Given the description of an element on the screen output the (x, y) to click on. 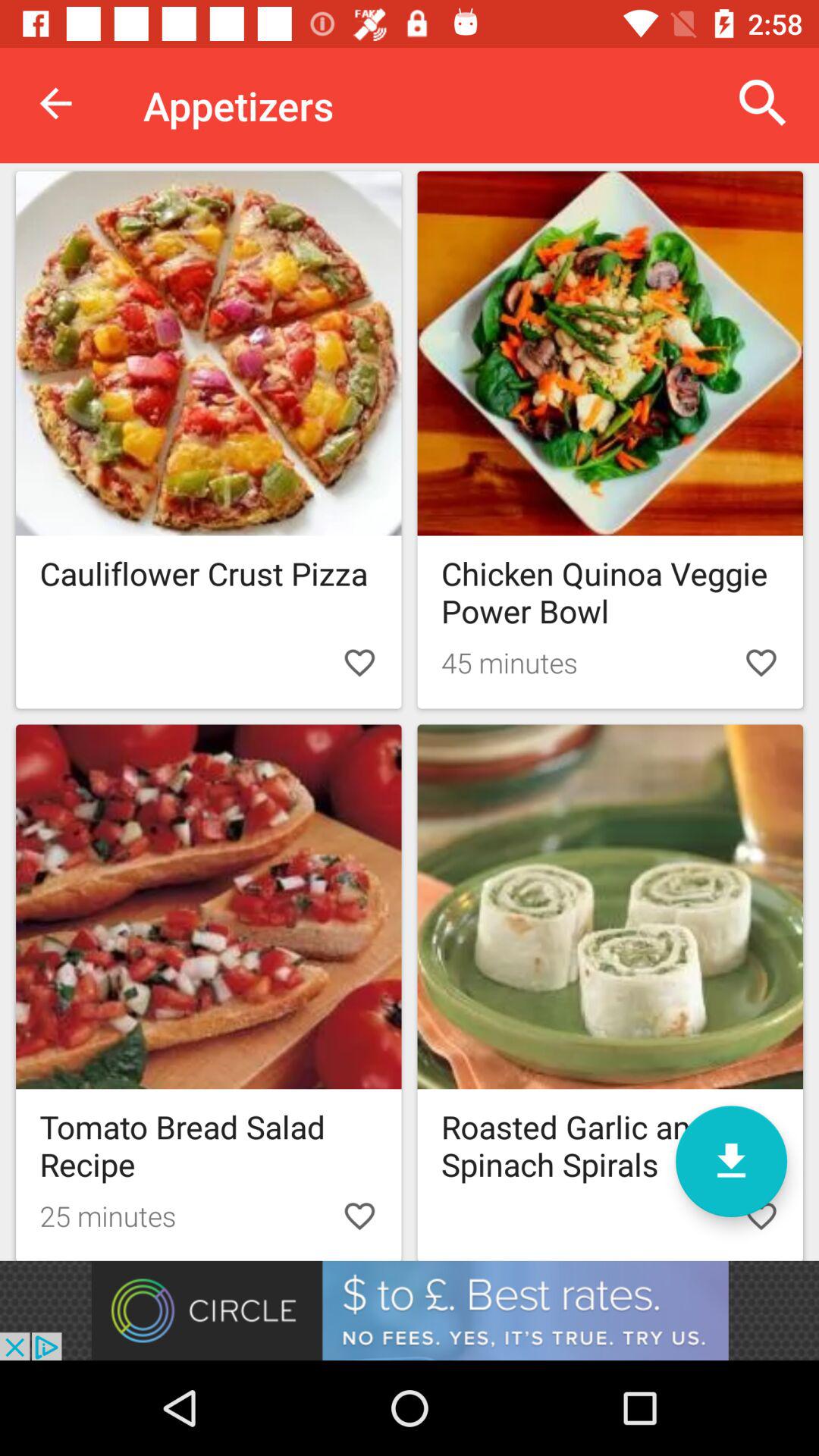
advertisement button (409, 1310)
